Given the description of an element on the screen output the (x, y) to click on. 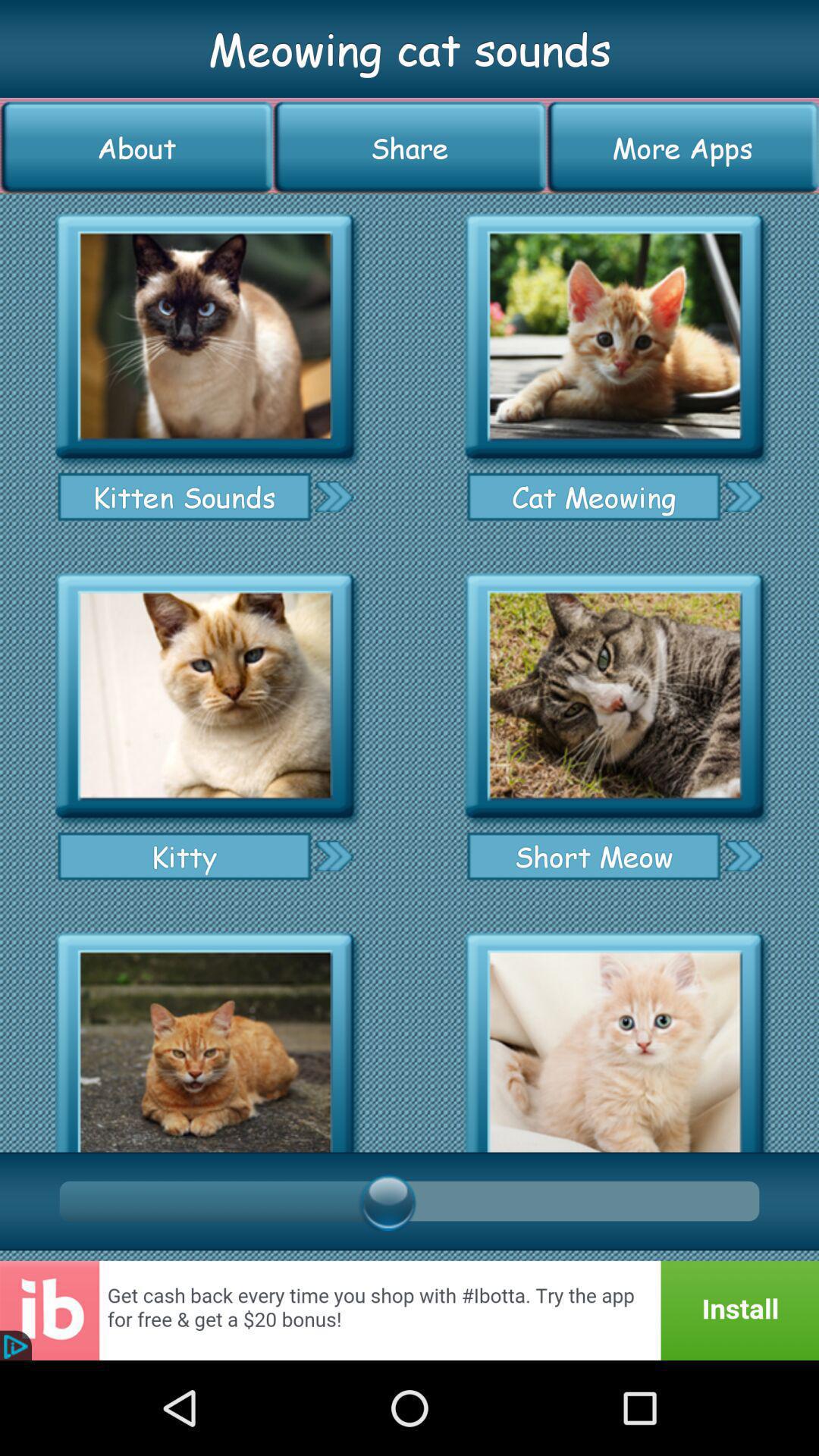
next cat meowing (743, 496)
